Given the description of an element on the screen output the (x, y) to click on. 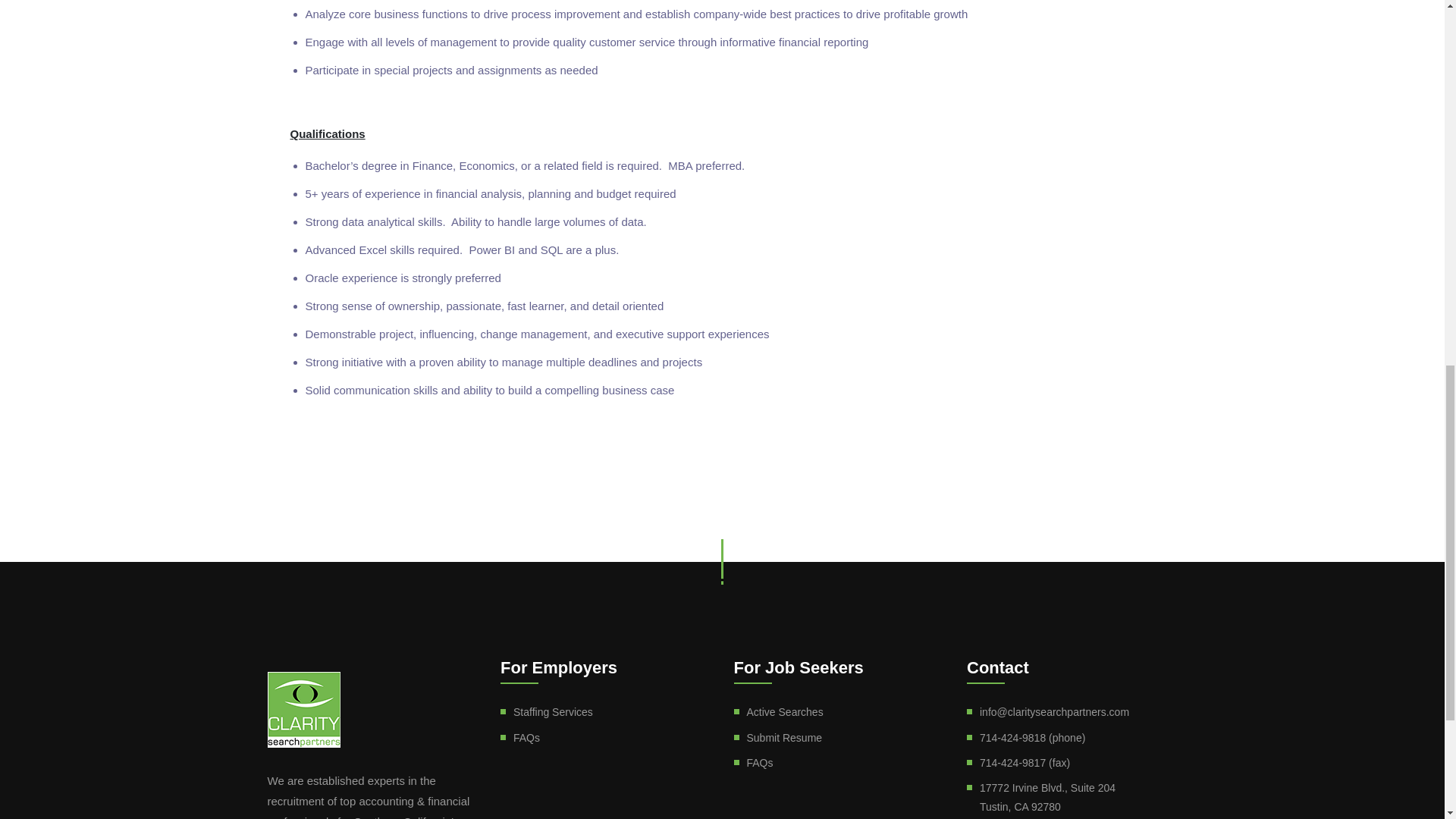
FAQs (526, 737)
Staffing Services (552, 711)
Prev Post (318, 488)
Next Post (1101, 488)
Active Searches (783, 711)
